Given the description of an element on the screen output the (x, y) to click on. 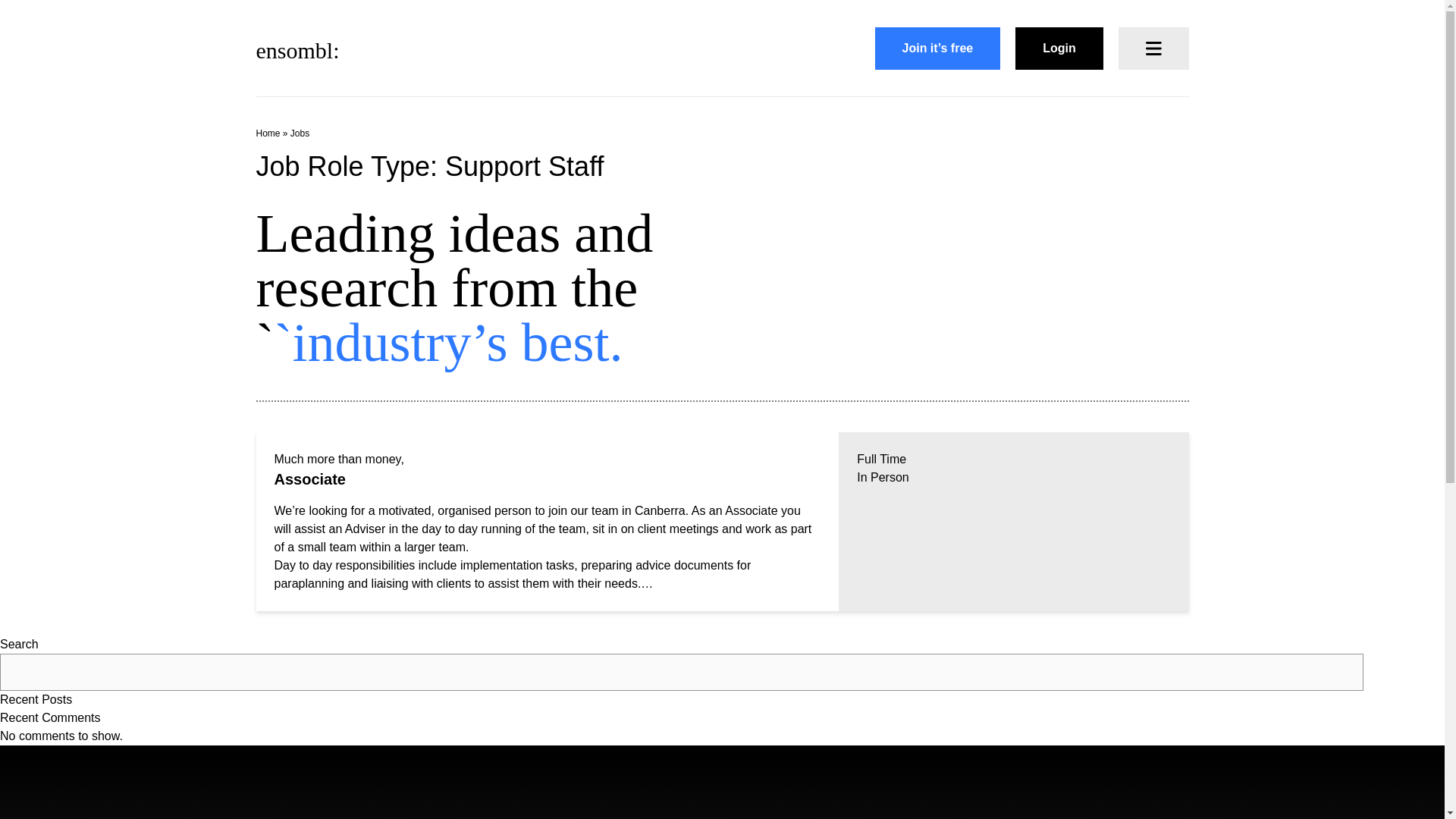
Jobs (298, 132)
Home (268, 132)
ensombl: (297, 48)
Login (1058, 48)
